Given the description of an element on the screen output the (x, y) to click on. 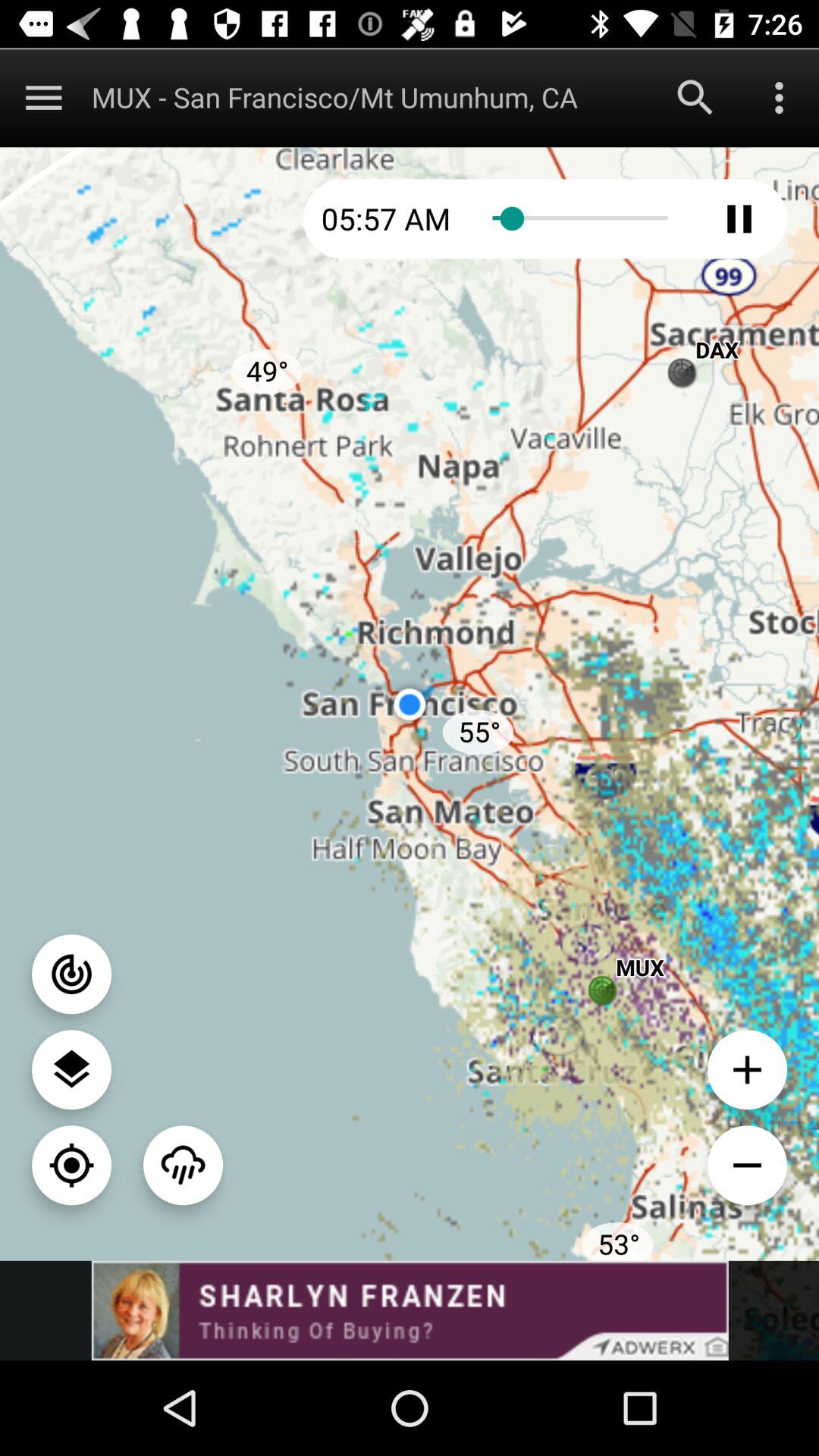
connect the location (71, 974)
